Given the description of an element on the screen output the (x, y) to click on. 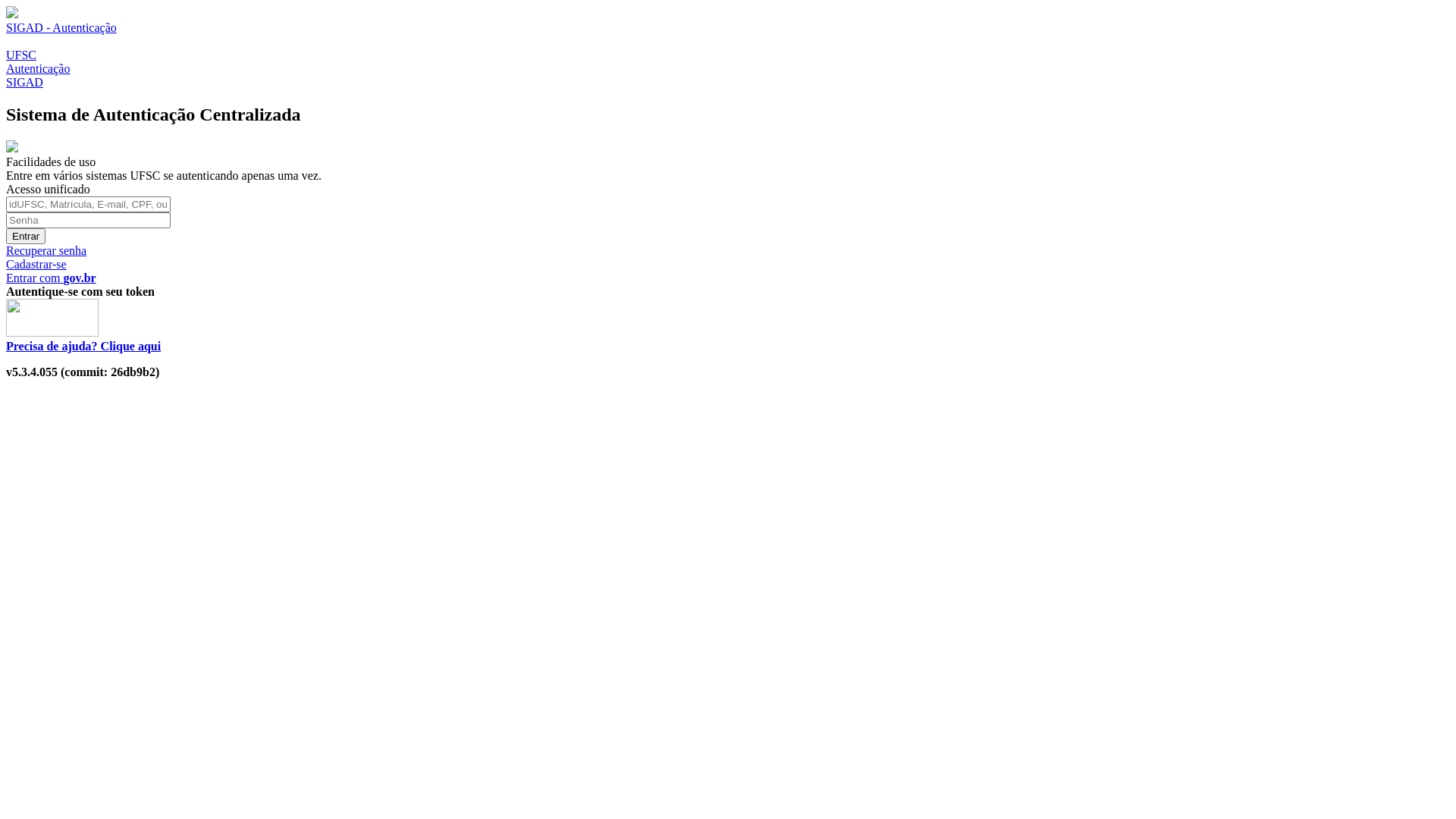
Entrar com gov.br Element type: text (51, 277)
UFSC Element type: text (21, 54)
SIGAD Element type: text (24, 81)
Recuperar senha Element type: text (46, 250)
Entrar Element type: text (25, 236)
Cadastrar-se Element type: text (36, 263)
Precisa de ajuda? Clique aqui Element type: text (83, 345)
